Given the description of an element on the screen output the (x, y) to click on. 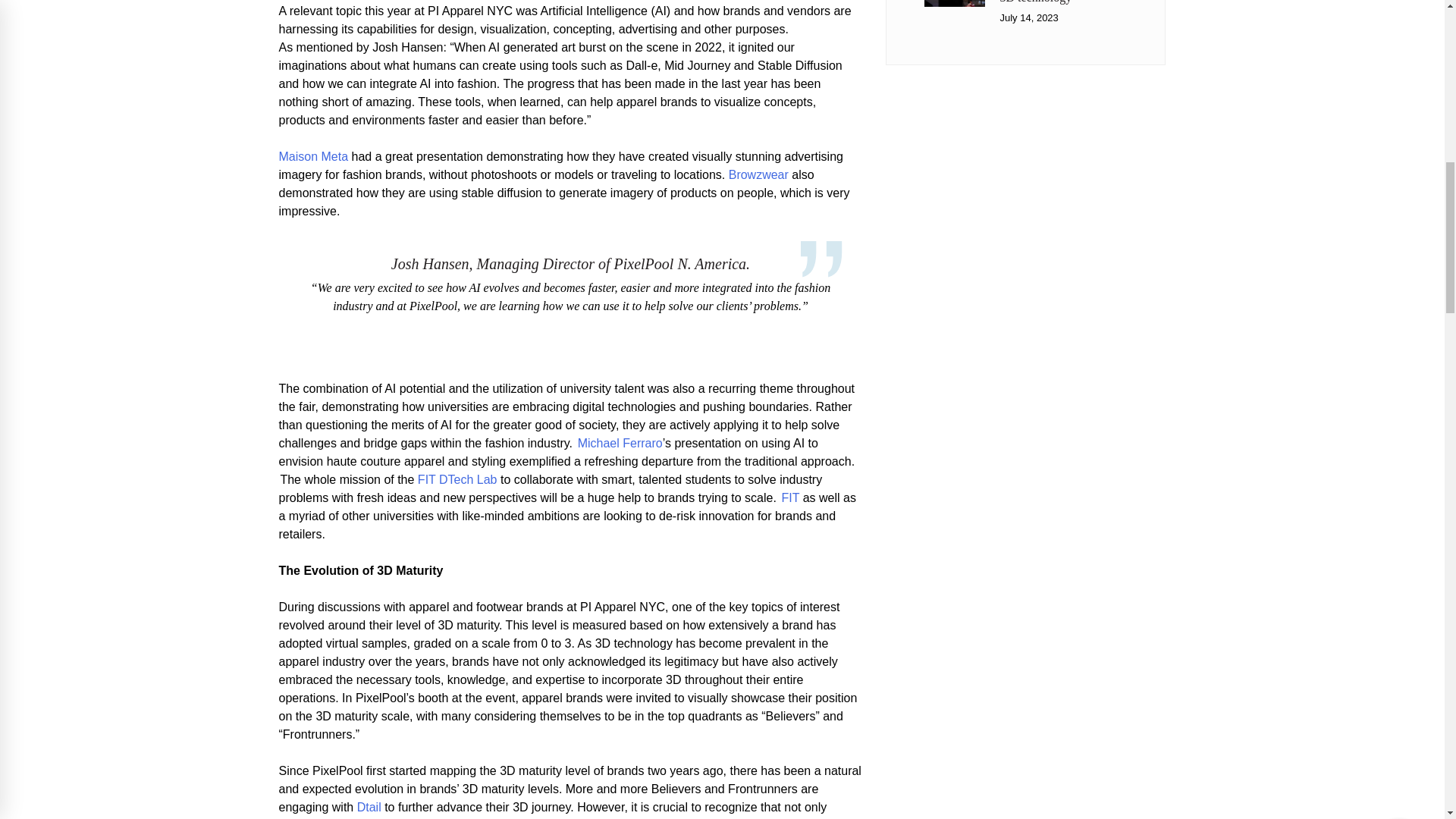
Michael Ferraro (620, 442)
FIT (790, 497)
Maison Meta (314, 155)
Browzwear (759, 174)
Dtail (368, 807)
FIT DTech Lab (457, 479)
